Given the description of an element on the screen output the (x, y) to click on. 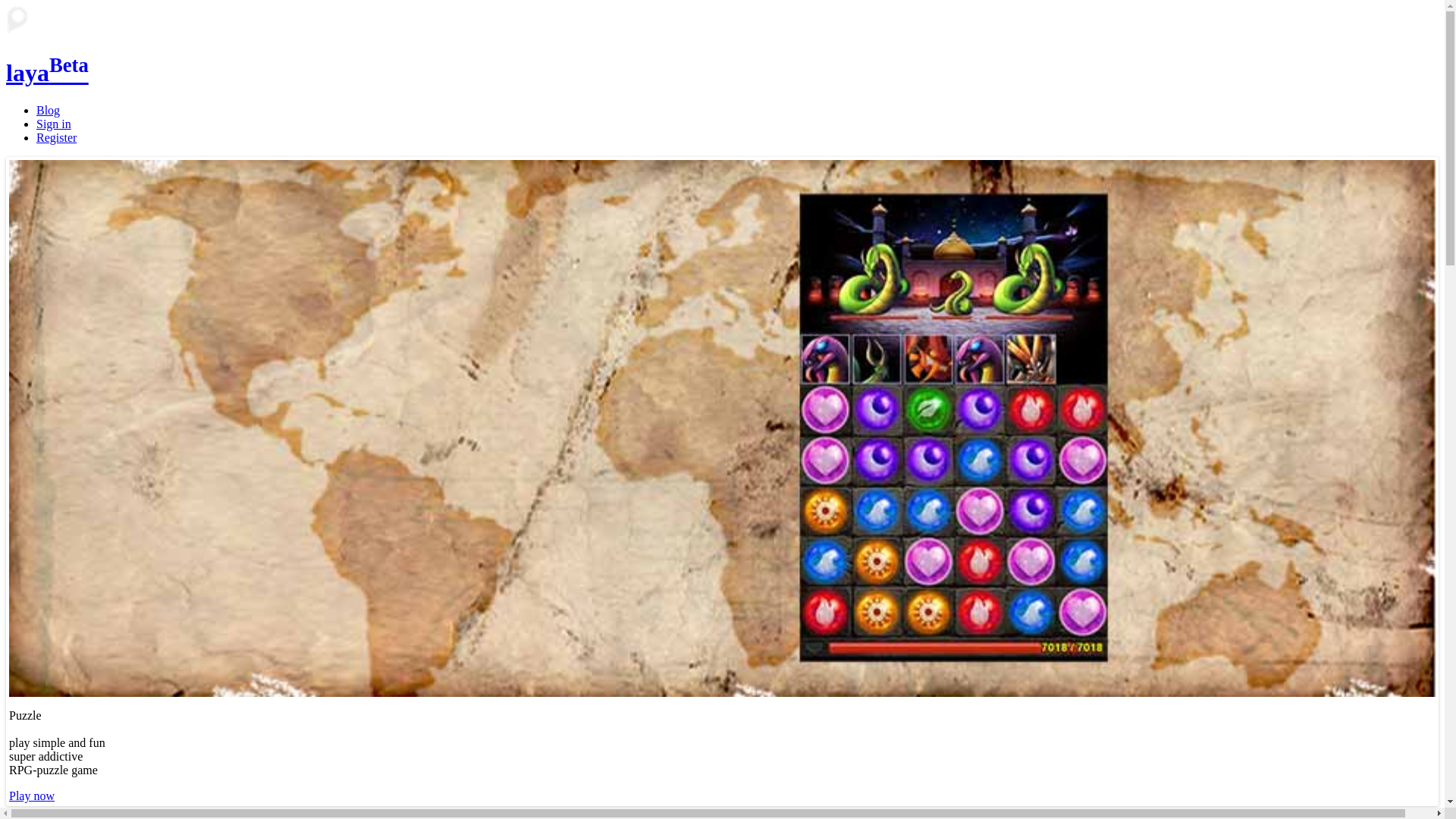
Blog Element type: text (47, 109)
Register Element type: text (56, 137)
layaBeta Element type: text (722, 46)
Sign in Element type: text (53, 123)
Play now Element type: text (31, 795)
Playa Home Element type: hover (17, 20)
